Given the description of an element on the screen output the (x, y) to click on. 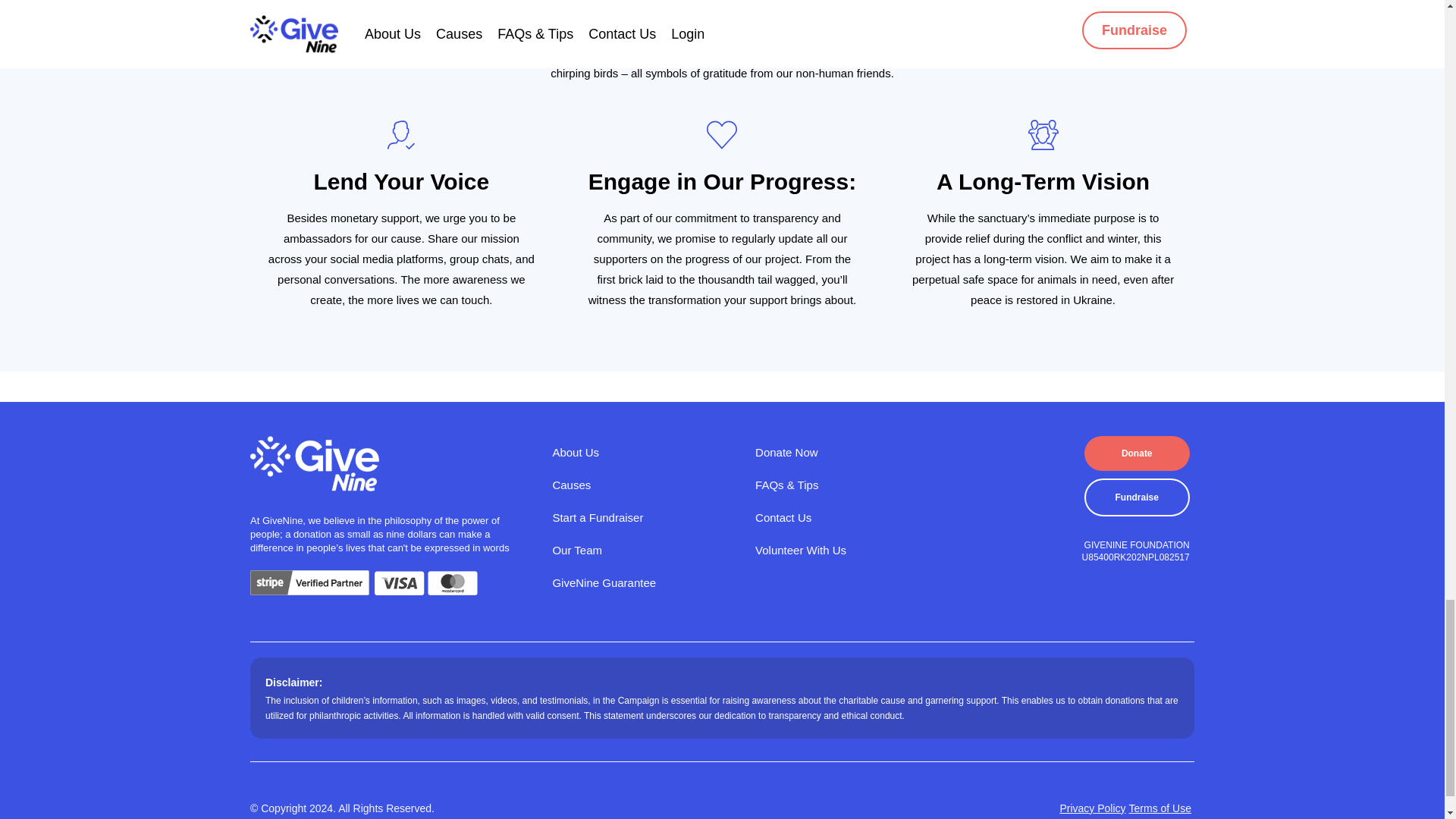
Privacy Policy (1092, 808)
Contact Us (847, 516)
Volunteer With Us (847, 549)
About Us (643, 452)
Our Team (643, 549)
Donate Now (847, 452)
Terms of Use (1160, 808)
Fundraise (1136, 497)
GiveNine Guarantee (643, 582)
Donate (1136, 452)
